Given the description of an element on the screen output the (x, y) to click on. 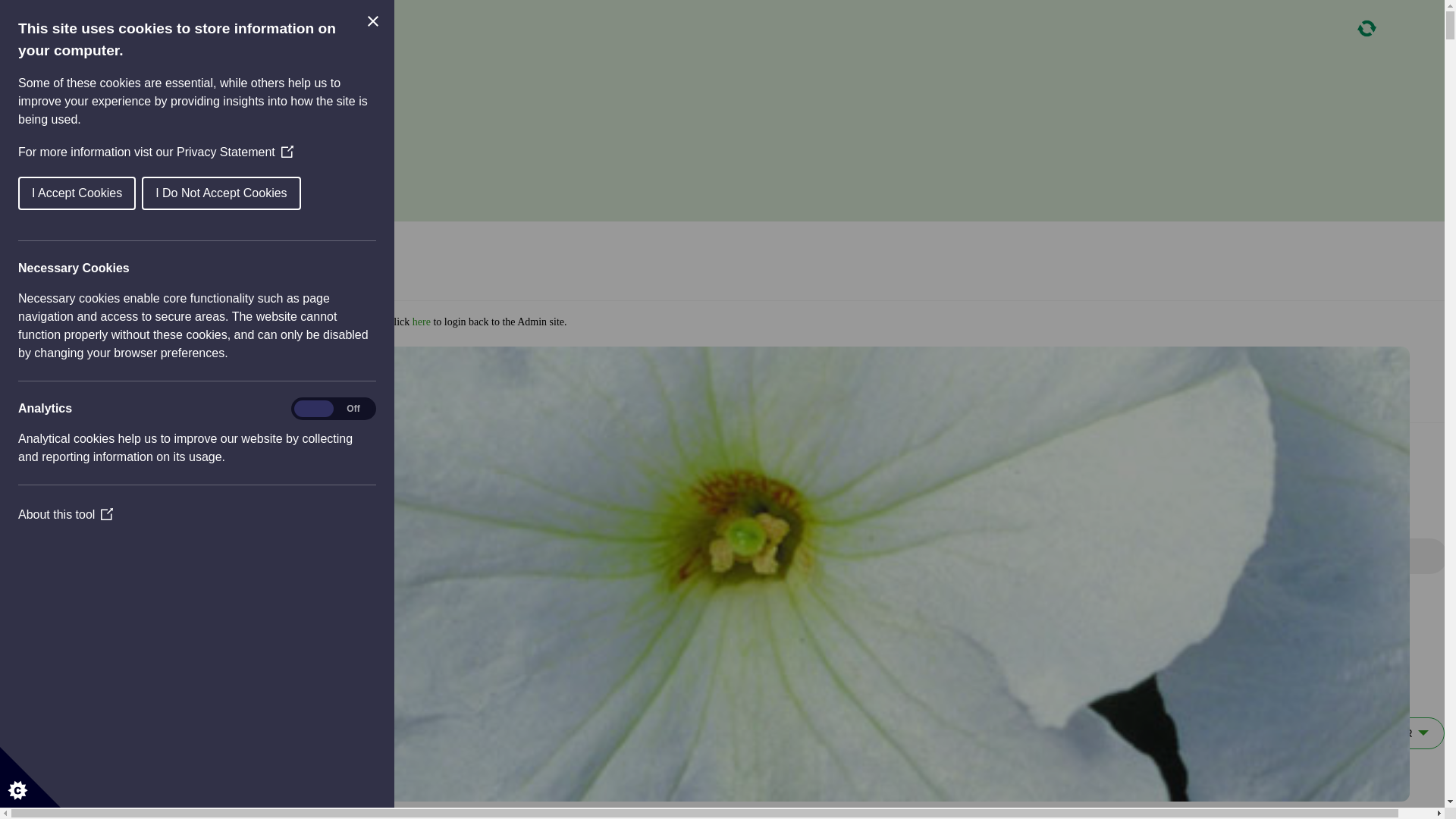
ABOUT US (737, 57)
I Do Not Accept Cookies (125, 192)
CATALOGUE REQUEST (737, 81)
here (421, 321)
FAQ (737, 198)
HOME (737, 33)
here (263, 443)
OUR BLOG (737, 128)
HELP (737, 175)
QUICK ORDERS (737, 105)
CONTACT US (737, 151)
